Given the description of an element on the screen output the (x, y) to click on. 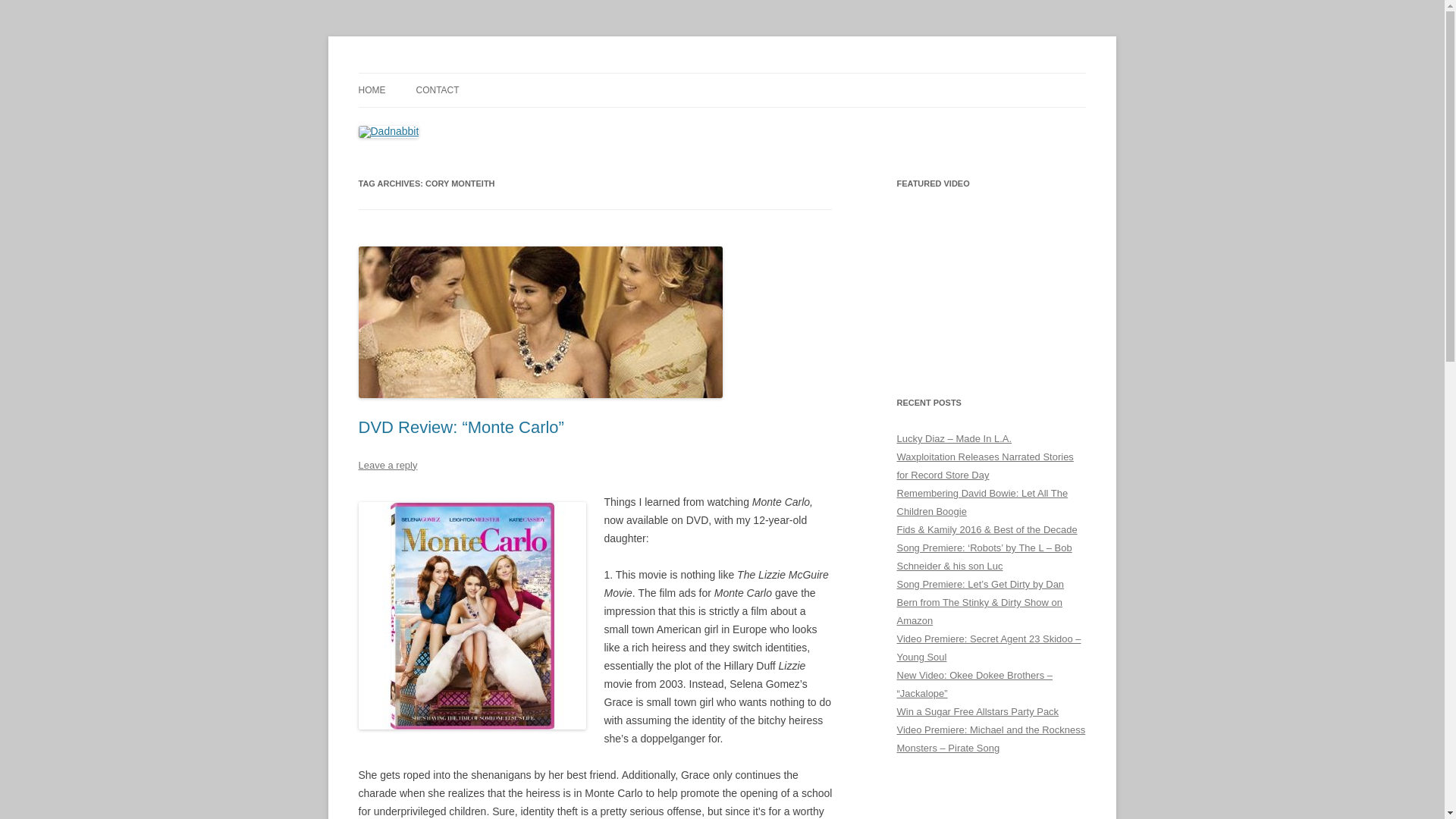
Win a Sugar Free Allstars Party Pack (977, 711)
Remembering David Bowie: Let All The Children Boogie (981, 501)
Waxploitation Releases Narrated Stories for Record Store Day (984, 465)
Dadnabbit (406, 72)
Monte-Carlo-DVD (471, 615)
CONTACT (436, 90)
Leave a reply (387, 464)
